Given the description of an element on the screen output the (x, y) to click on. 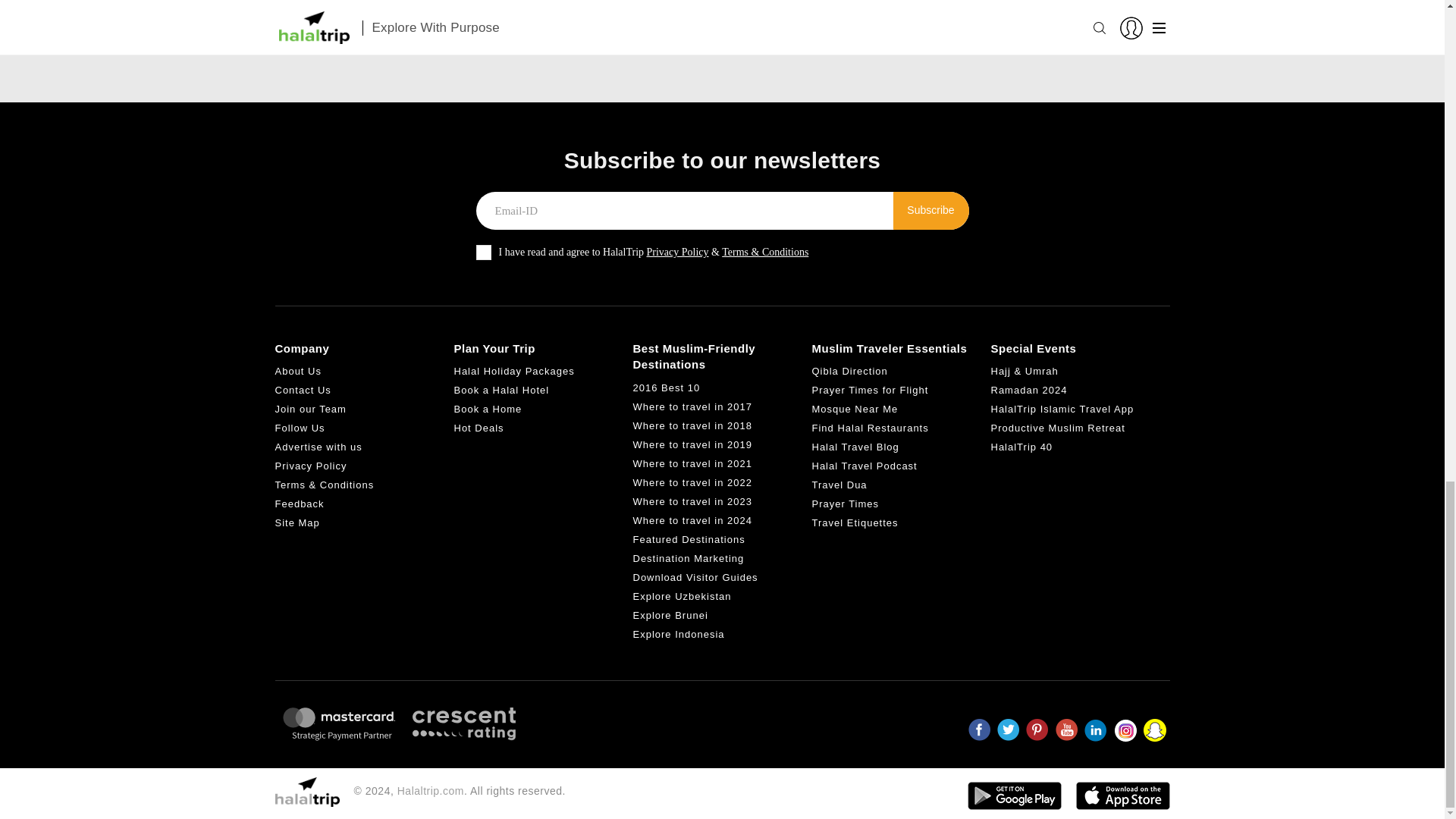
Subscribe (931, 210)
